Given the description of an element on the screen output the (x, y) to click on. 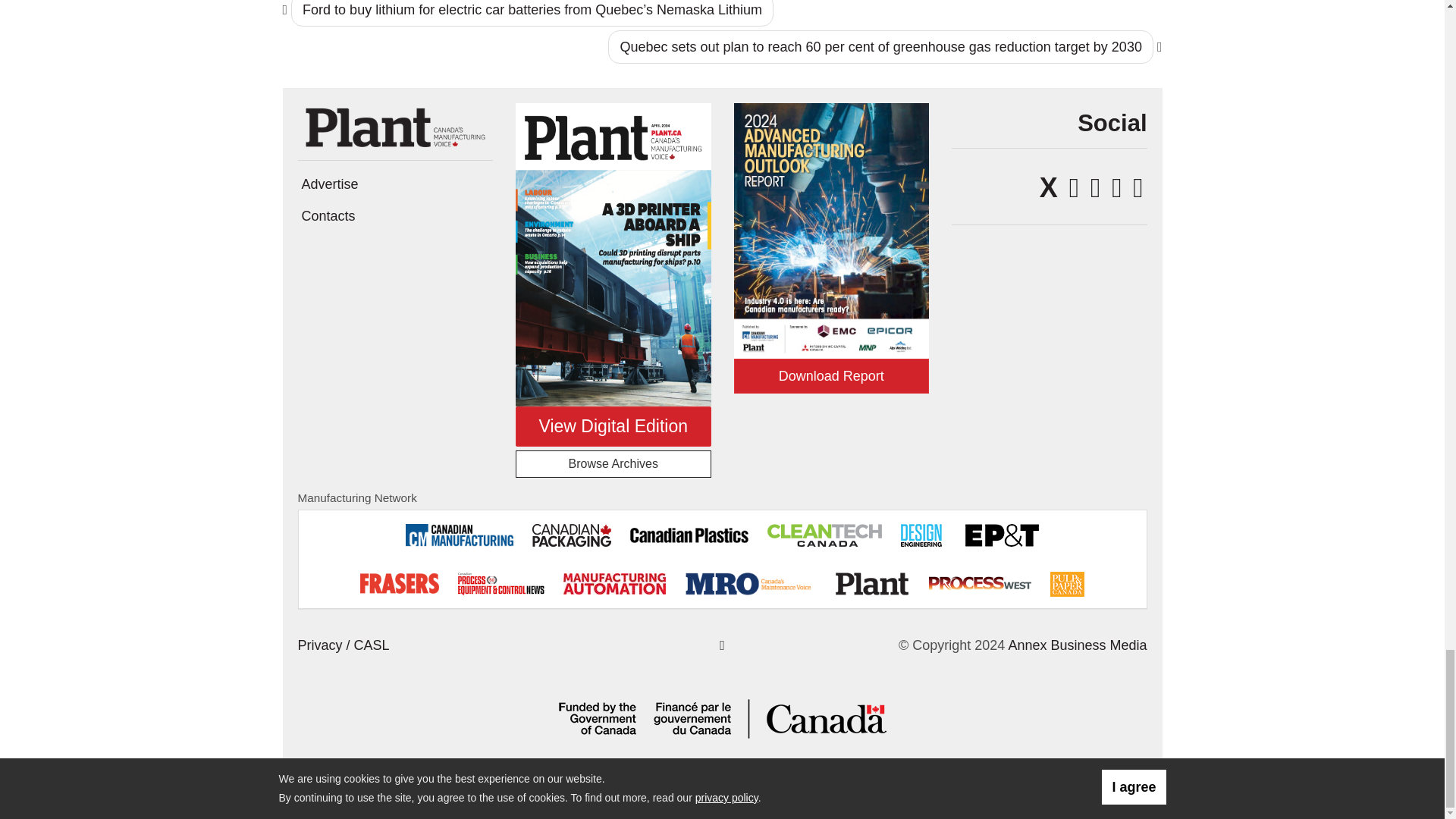
Plant (395, 126)
Annex Business Media (1077, 645)
